Given the description of an element on the screen output the (x, y) to click on. 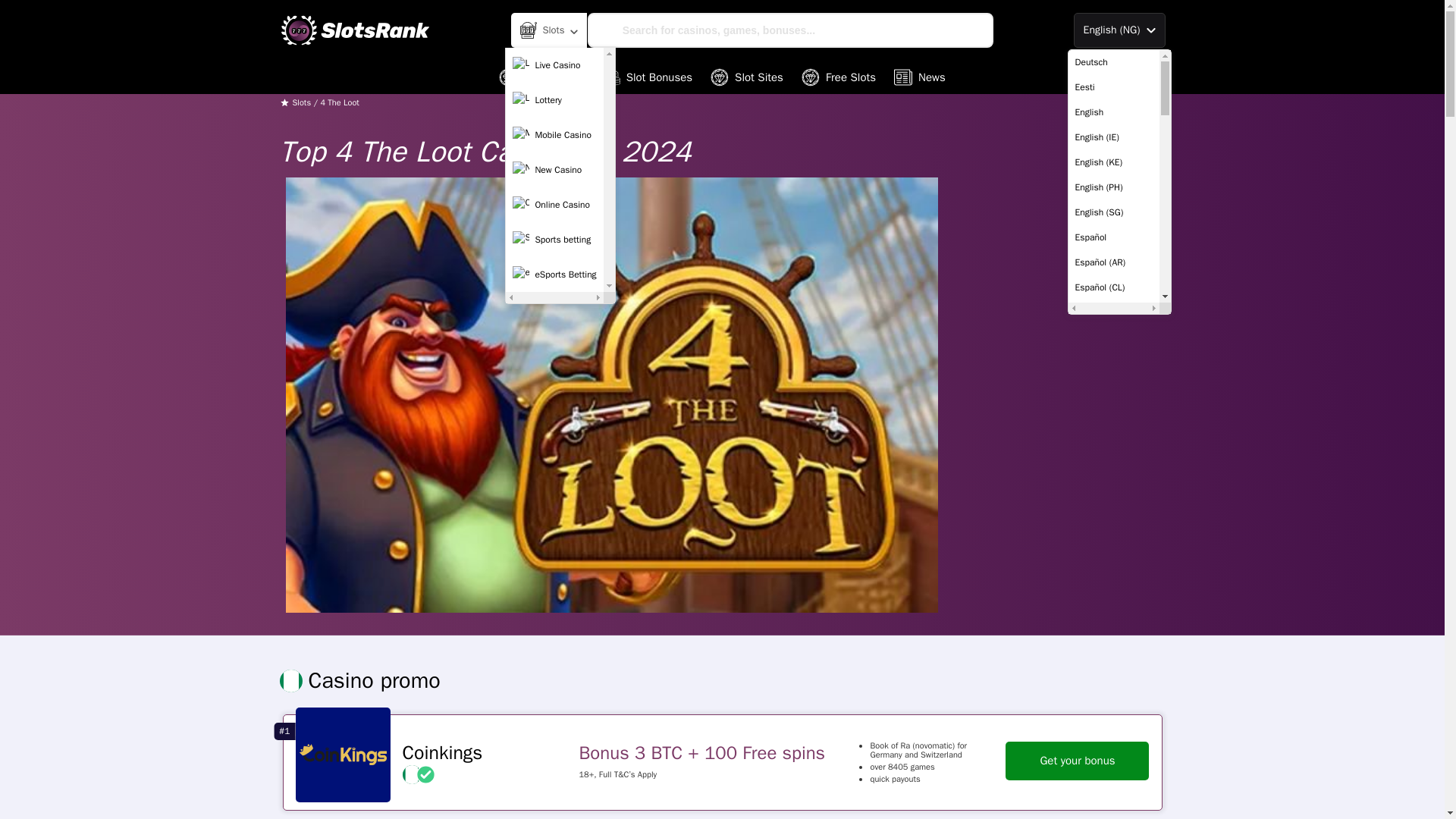
Lottery (553, 99)
Suomi (1113, 738)
Eesti (1113, 87)
New Casino (553, 169)
Polski (1113, 637)
Deutsch (1113, 62)
Magyar (1113, 512)
Italiano (1113, 437)
Online Casino (553, 204)
English (1113, 112)
Indonesia (1113, 412)
Svenska (1113, 763)
Live Casino (553, 64)
Nederlands (1113, 562)
Melayu (1113, 537)
